Given the description of an element on the screen output the (x, y) to click on. 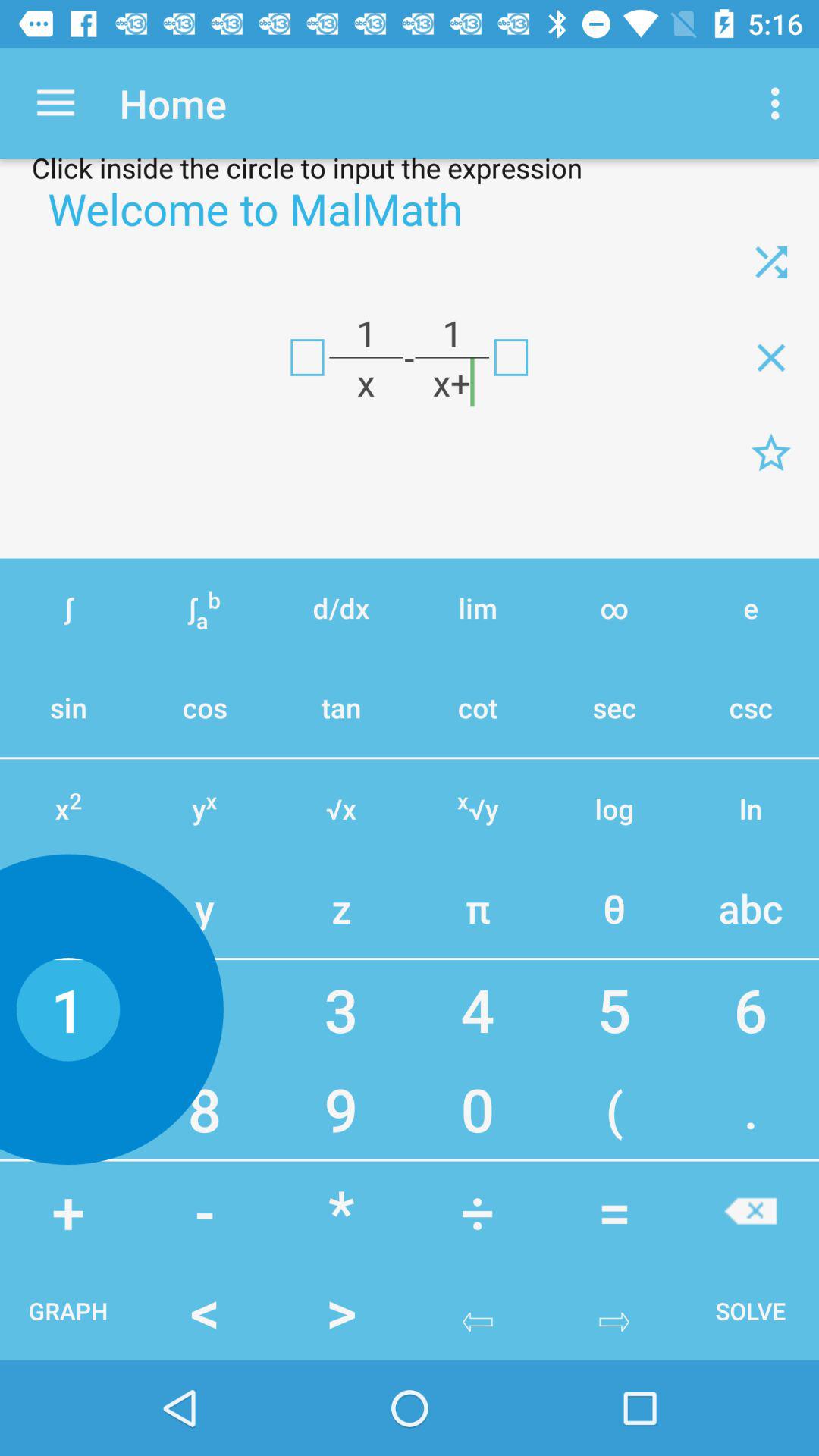
menu button (771, 453)
